Given the description of an element on the screen output the (x, y) to click on. 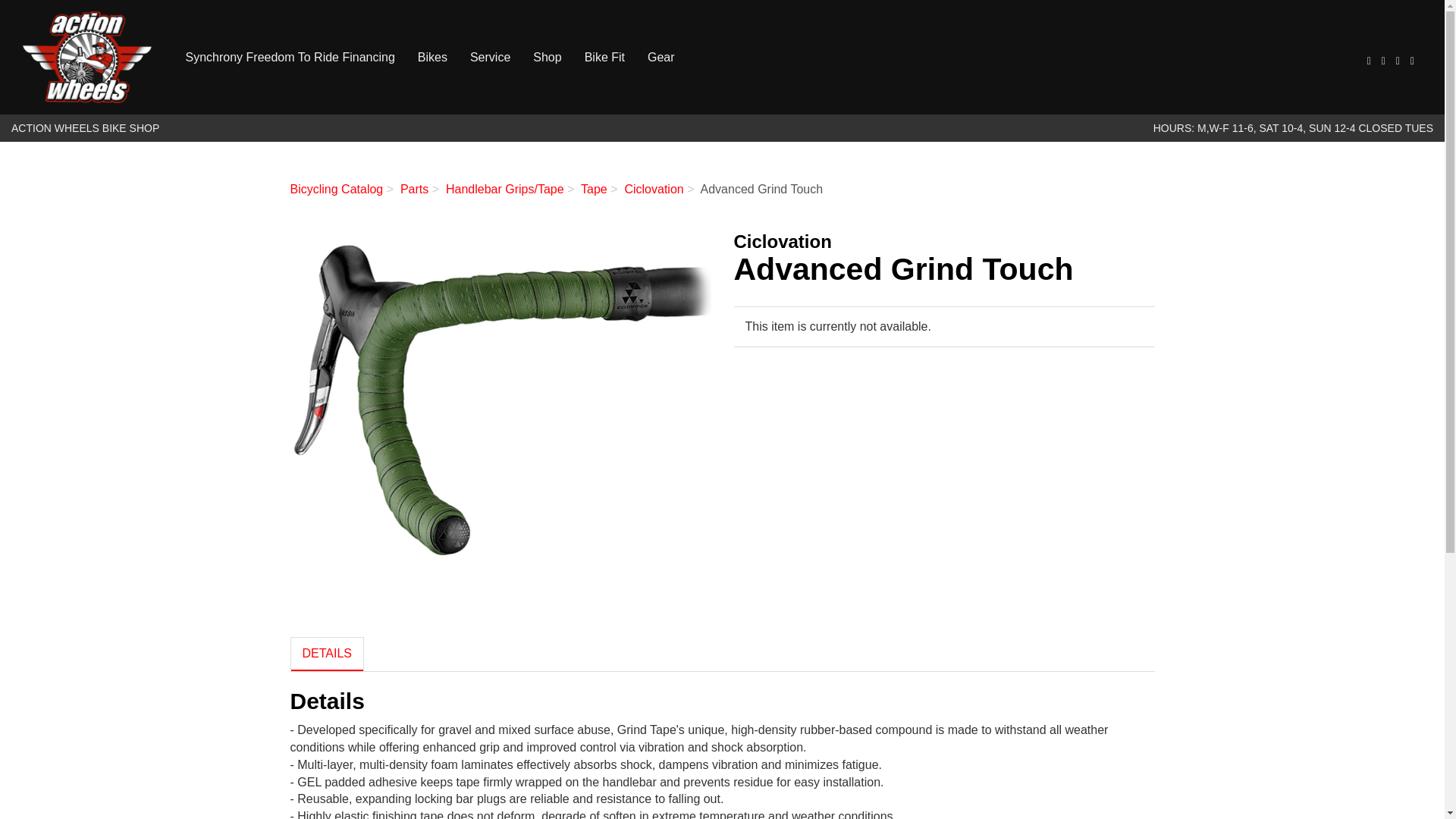
Shop (546, 57)
Bikes (432, 57)
Synchrony Freedom To Ride Financing (290, 57)
Service (489, 57)
Action Wheels Bike Shop Home Page (87, 57)
